Given the description of an element on the screen output the (x, y) to click on. 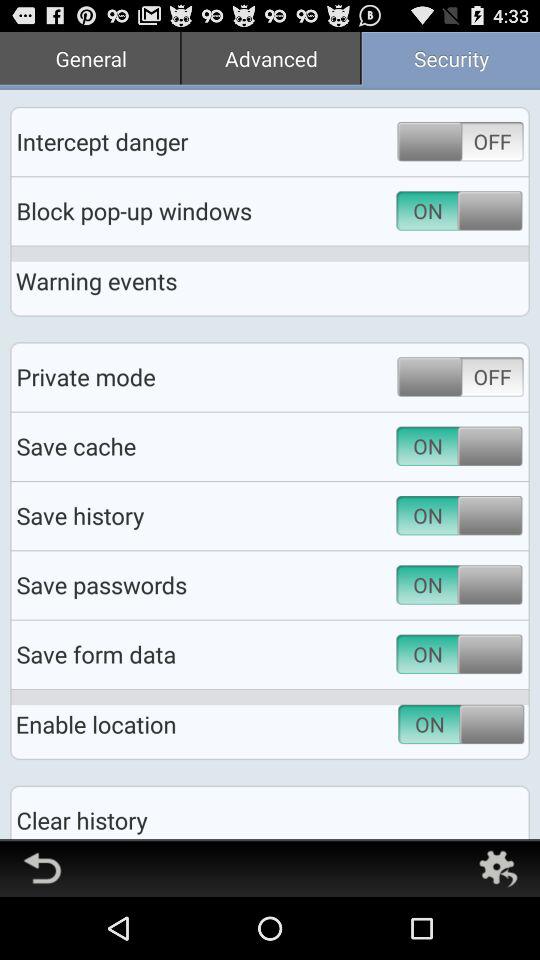
return to previous page (42, 868)
